Given the description of an element on the screen output the (x, y) to click on. 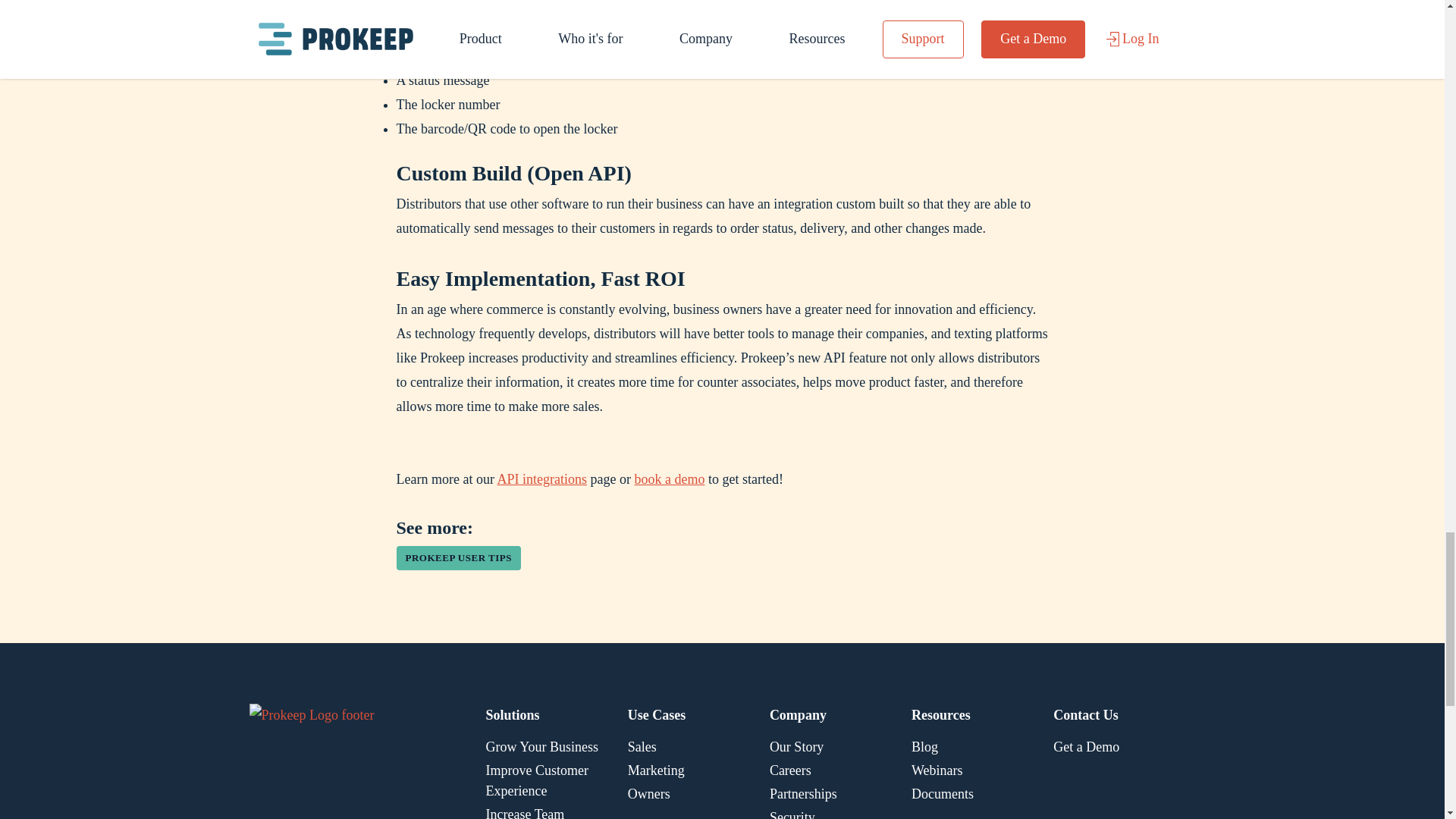
Prokeep Logo footer (335, 761)
